Given the description of an element on the screen output the (x, y) to click on. 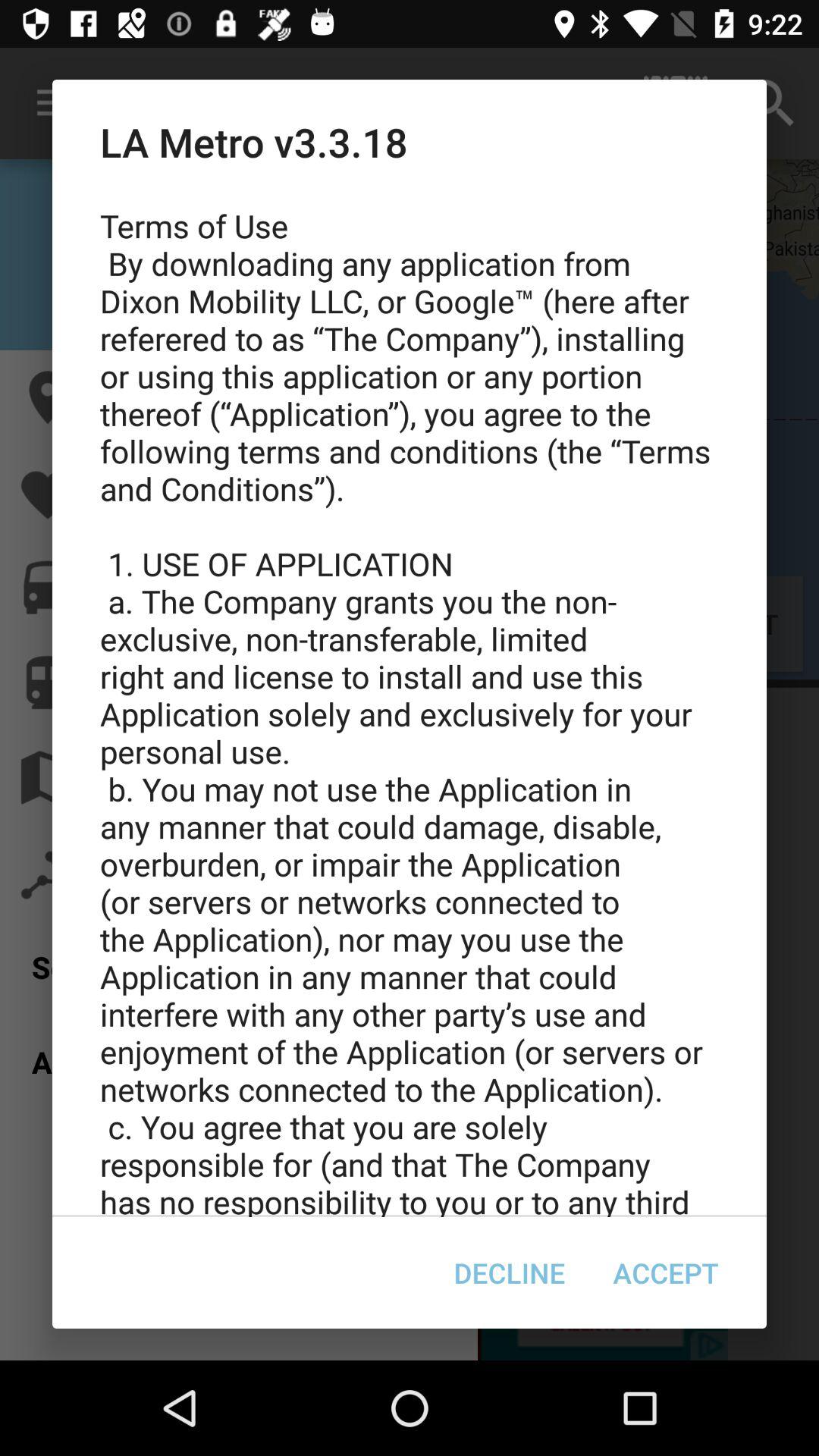
choose the accept item (665, 1272)
